Given the description of an element on the screen output the (x, y) to click on. 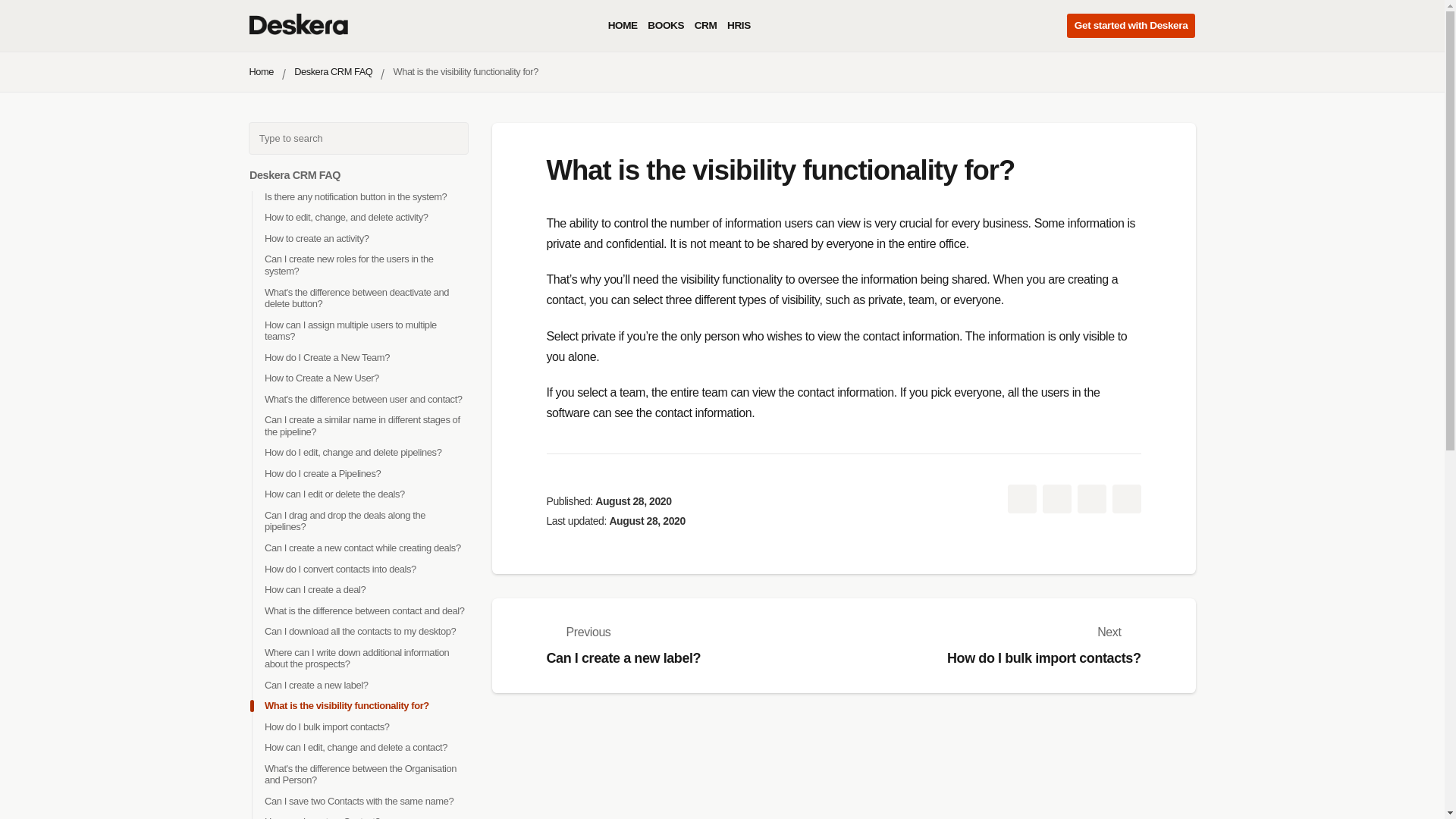
Can I save two Contacts with the same name? (357, 800)
How do I Create a New Team? (325, 357)
Deskera CRM FAQ (293, 174)
How to Create a New User? (320, 378)
Is there any notification button in the system? (354, 196)
BOOKS (666, 25)
How can I edit or delete the deals? (333, 493)
How do I edit, change and delete pipelines? (352, 451)
How to edit, change, and delete activity? (345, 216)
How can I create a deal? (314, 589)
HOME (622, 25)
Home (260, 71)
How do I bulk import contacts? (325, 726)
How do I convert contacts into deals? (338, 568)
Can I download all the contacts to my desktop? (358, 631)
